Given the description of an element on the screen output the (x, y) to click on. 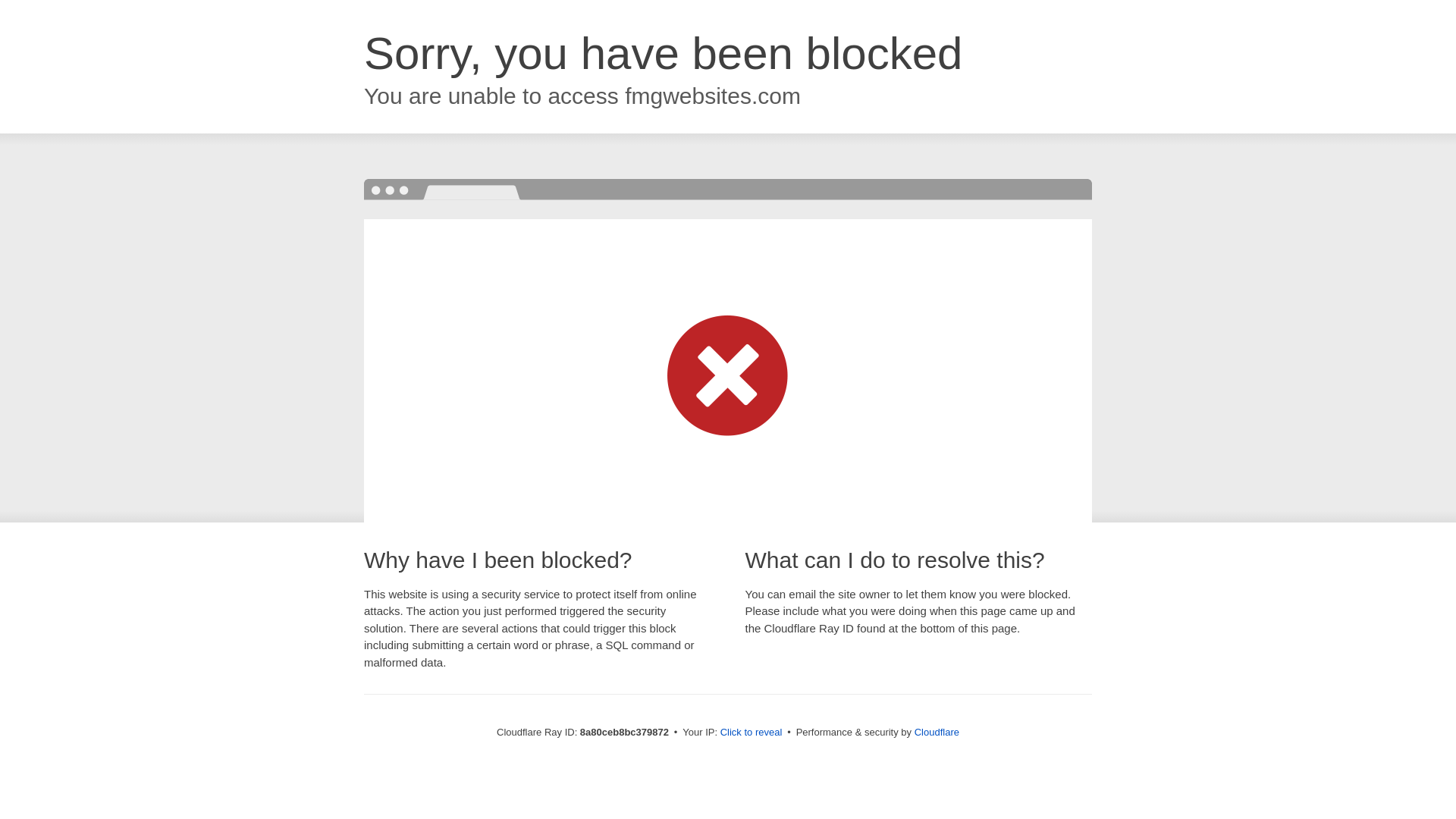
Click to reveal (751, 732)
Cloudflare (936, 731)
